Given the description of an element on the screen output the (x, y) to click on. 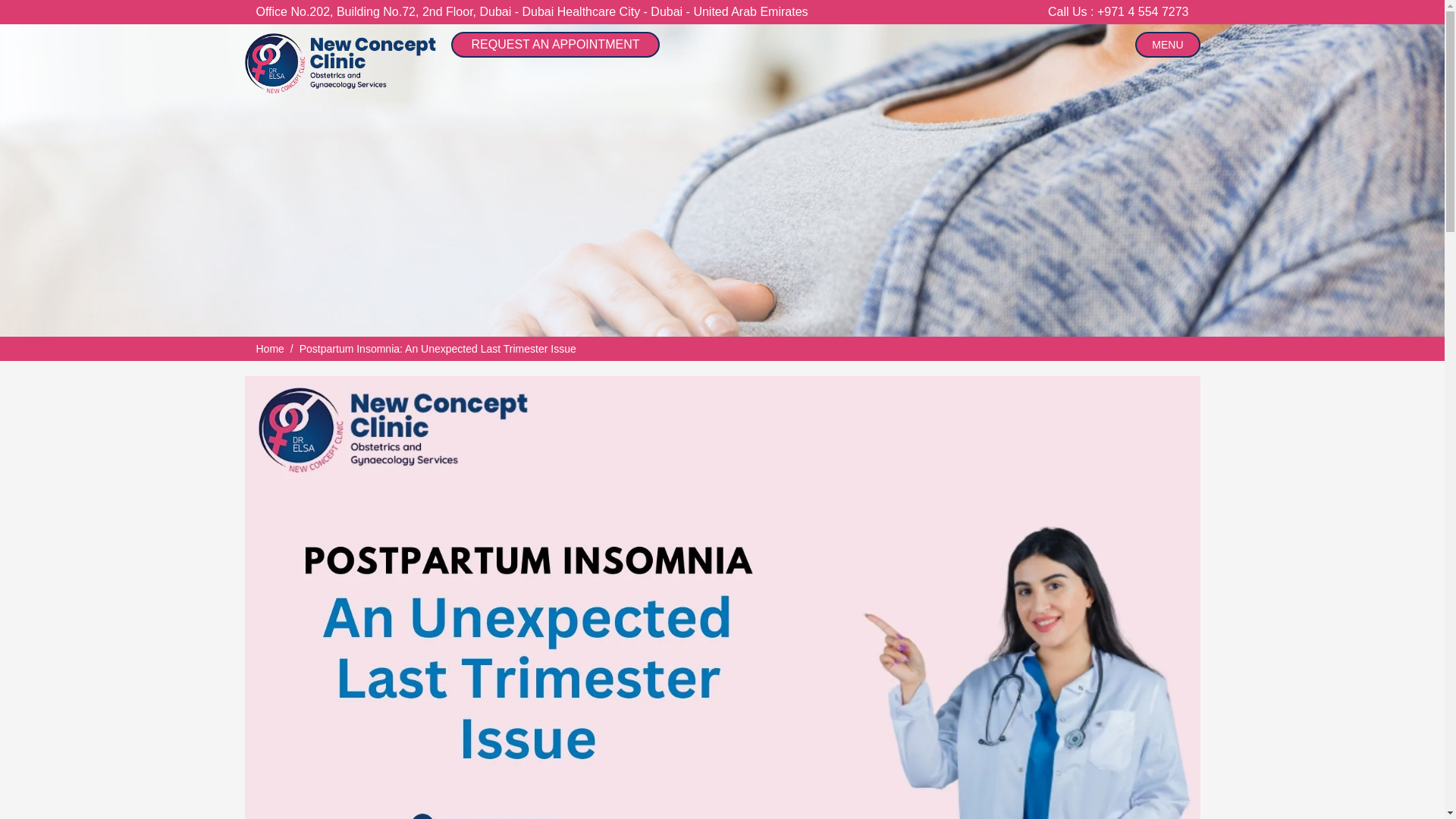
REQUEST AN APPOINTMENT (554, 44)
Find Us (532, 11)
Home (269, 348)
New Concept Clinic (339, 63)
